Given the description of an element on the screen output the (x, y) to click on. 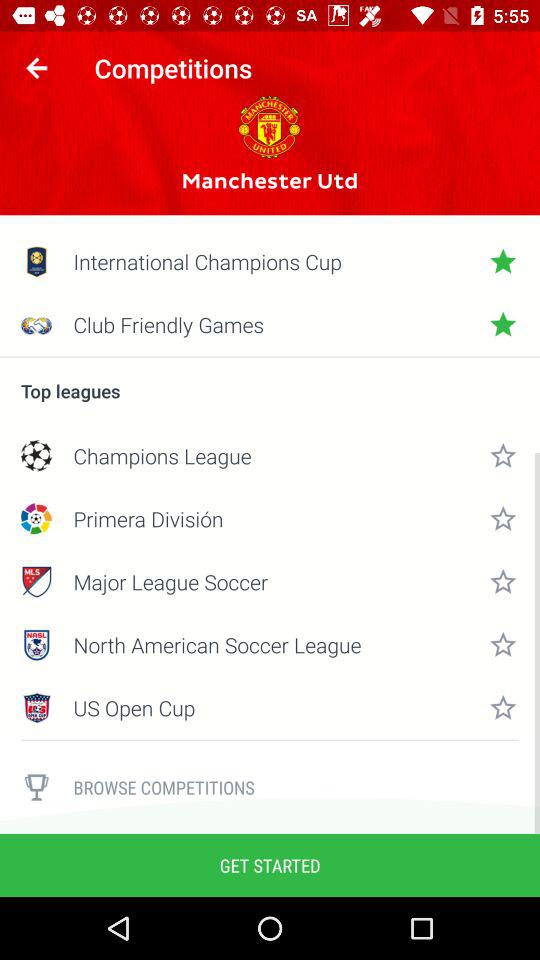
turn on champions league icon (269, 455)
